Given the description of an element on the screen output the (x, y) to click on. 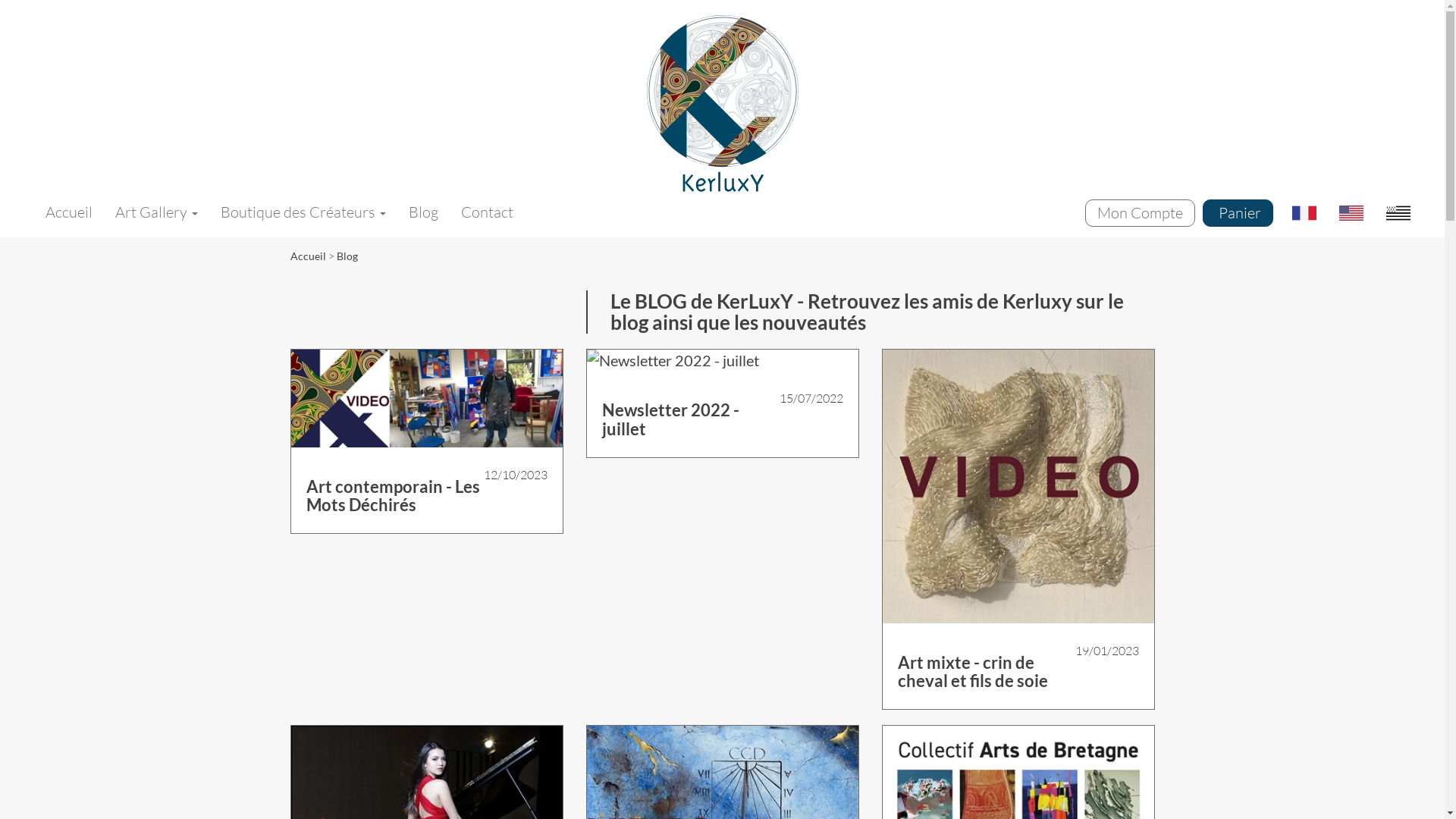
Contact Element type: text (486, 212)
Blog Element type: text (423, 212)
Accueil Element type: text (307, 255)
19/01/2023
Art mixte - crin de cheval et fils de soie Element type: text (1018, 536)
Blog Element type: text (346, 255)
Accueil Element type: hover (722, 103)
15/07/2022
Newsletter 2022 - juillet Element type: text (722, 410)
Art Gallery Element type: text (156, 212)
Accueil Element type: text (68, 212)
Mon Compte Element type: text (1140, 212)
Panier Element type: text (1237, 212)
